Given the description of an element on the screen output the (x, y) to click on. 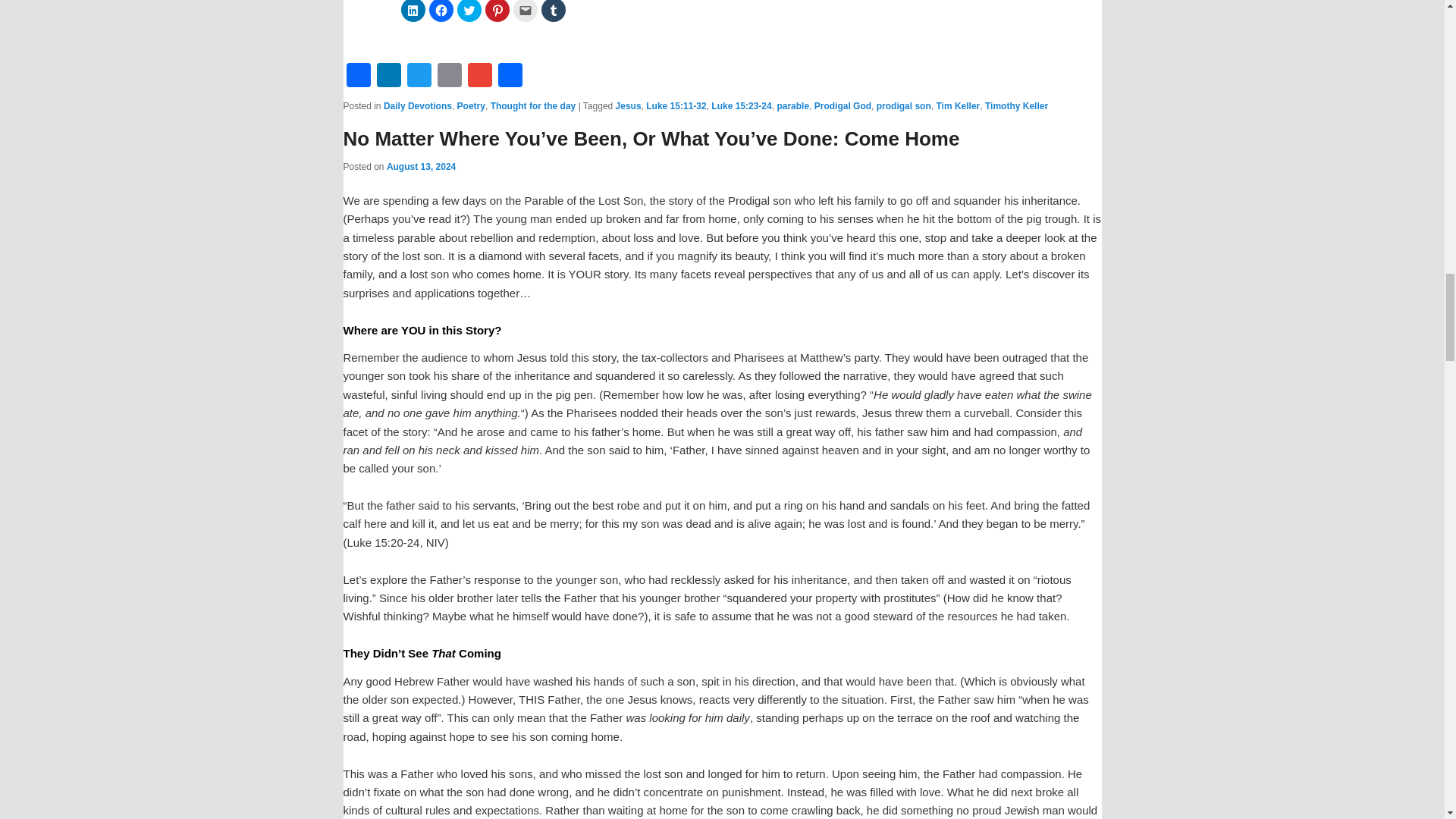
Luke 15:11-32 (676, 105)
Gmail (479, 74)
Twitter (418, 74)
Click to share on LinkedIn (412, 11)
Email (448, 74)
prodigal son (903, 105)
parable (792, 105)
Click to share on Pinterest (496, 11)
Click to share on Facebook (440, 11)
Poetry (470, 105)
